Given the description of an element on the screen output the (x, y) to click on. 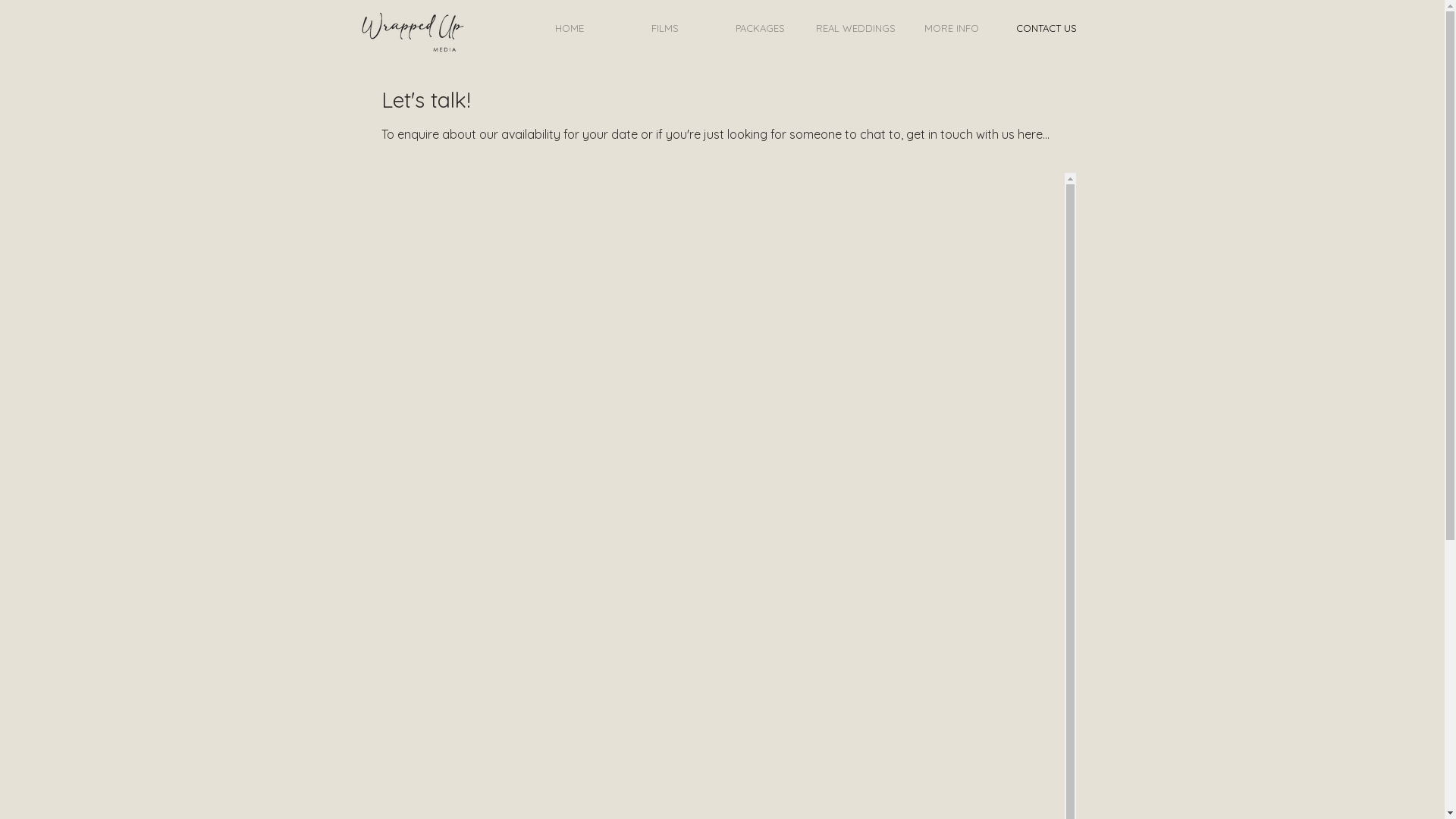
CONTACT US Element type: text (1045, 28)
REAL WEDDINGS Element type: text (855, 28)
HOME Element type: text (568, 28)
Embedded Content Element type: hover (467, 429)
FILMS Element type: text (664, 28)
